Given the description of an element on the screen output the (x, y) to click on. 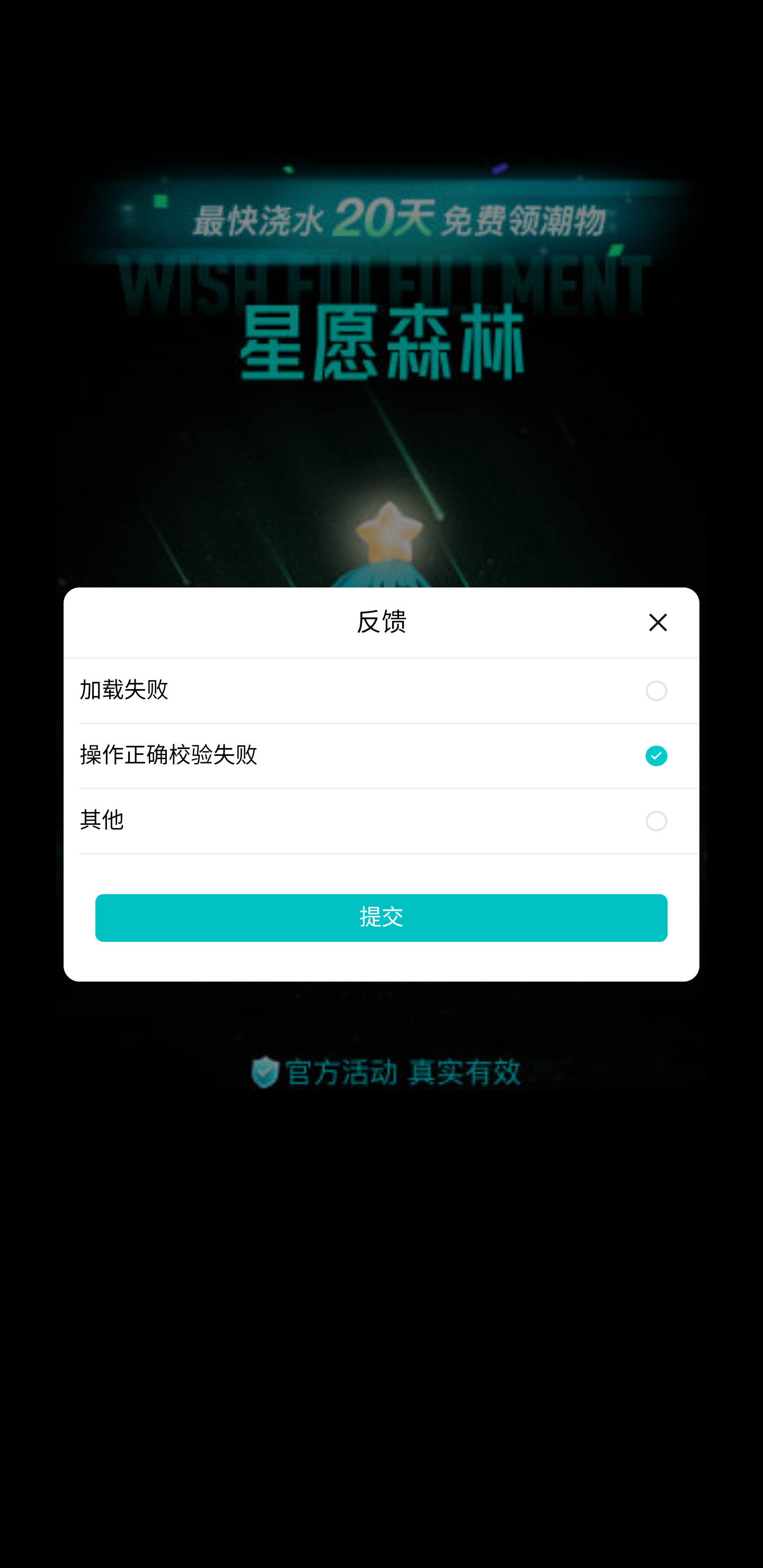
提交 (381, 917)
